Given the description of an element on the screen output the (x, y) to click on. 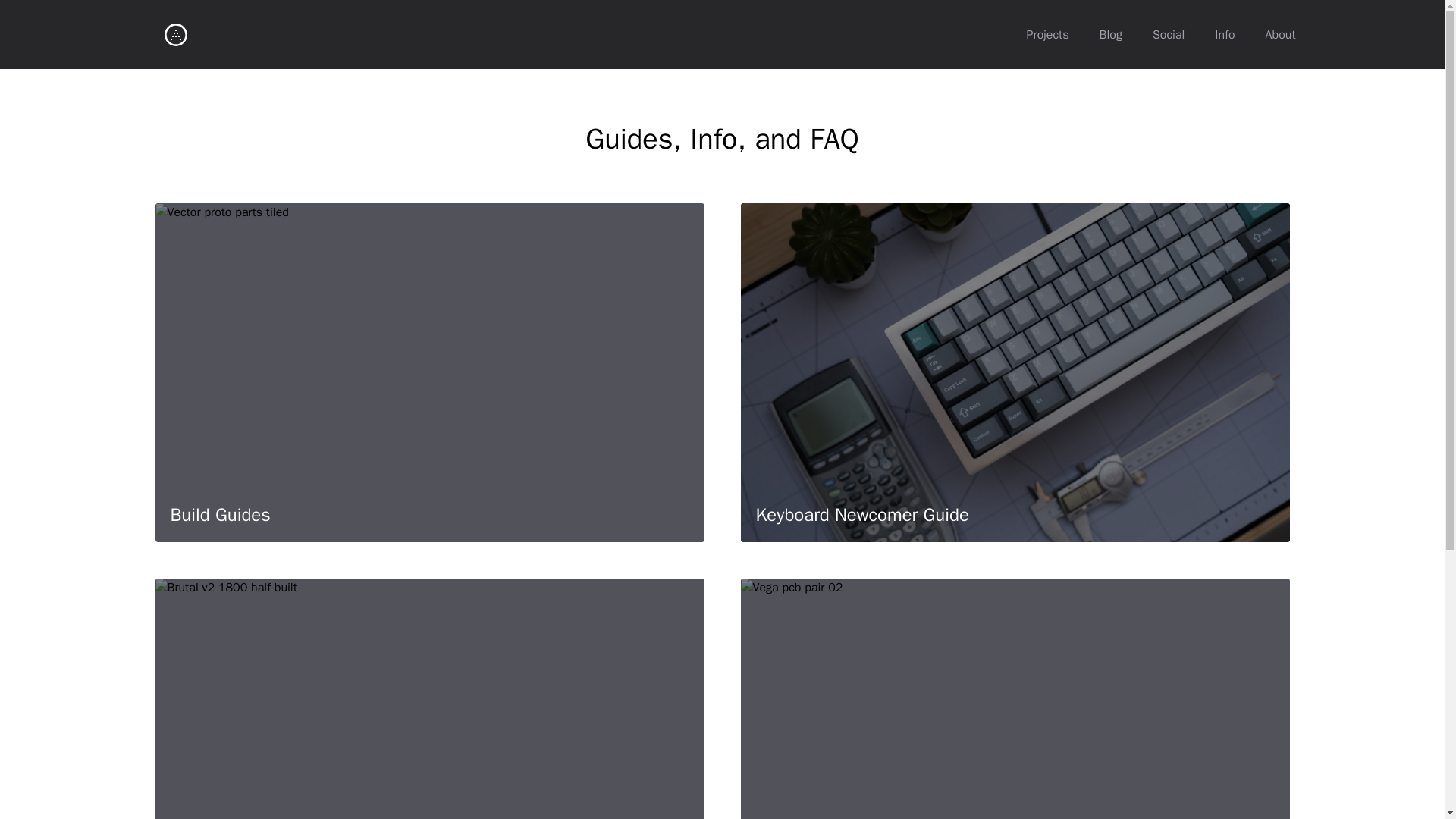
Blog (1110, 34)
Social (1167, 34)
Projects (1047, 34)
